Given the description of an element on the screen output the (x, y) to click on. 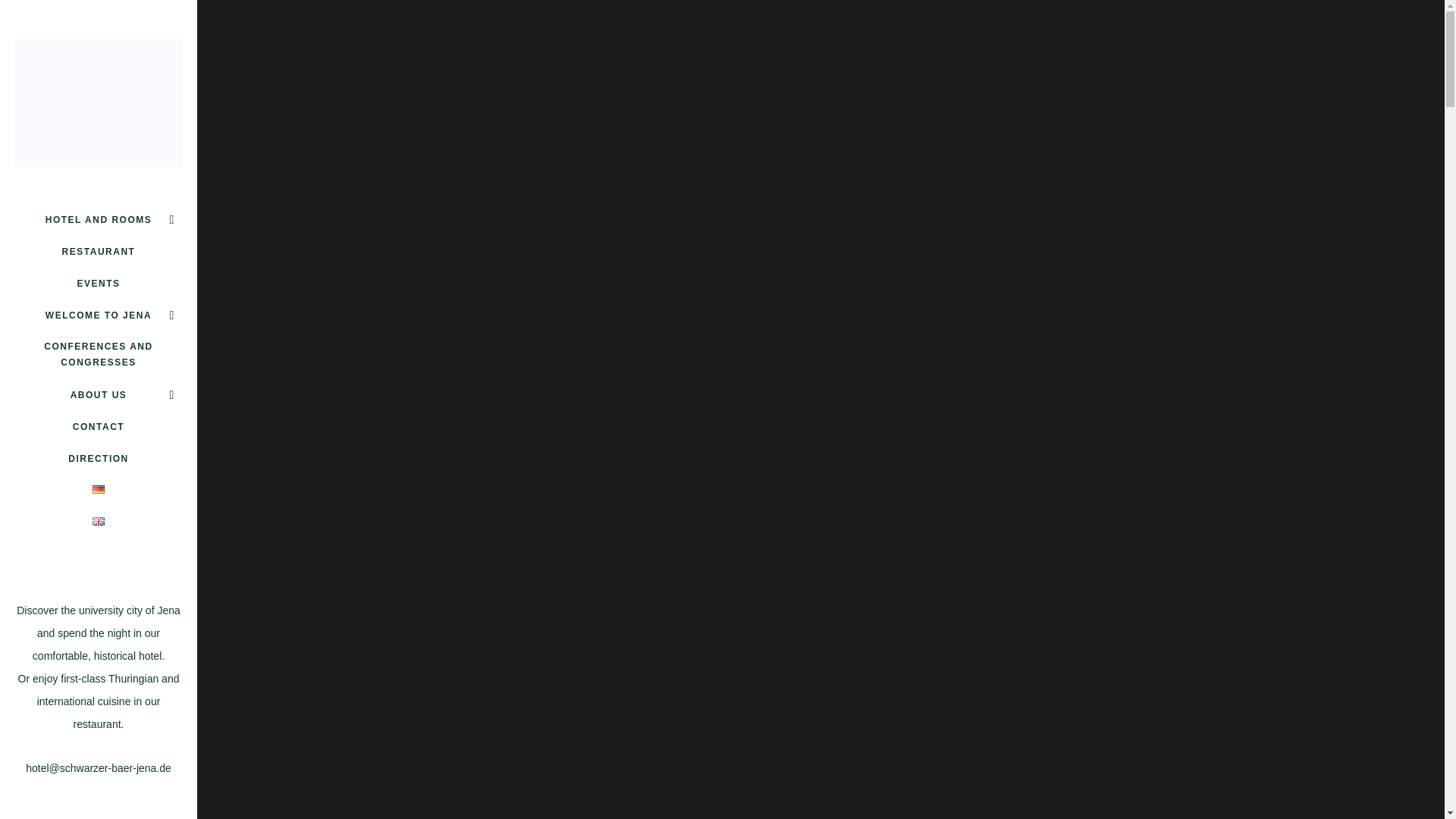
Deutsch (98, 489)
ABOUT US (98, 395)
RESTAURANT (98, 251)
DIRECTION (98, 459)
EVENTS (98, 283)
English (98, 520)
CONFERENCES AND CONGRESSES (98, 355)
HOTEL AND ROOMS (98, 219)
CONTACT (98, 427)
WELCOME TO JENA (98, 315)
